Given the description of an element on the screen output the (x, y) to click on. 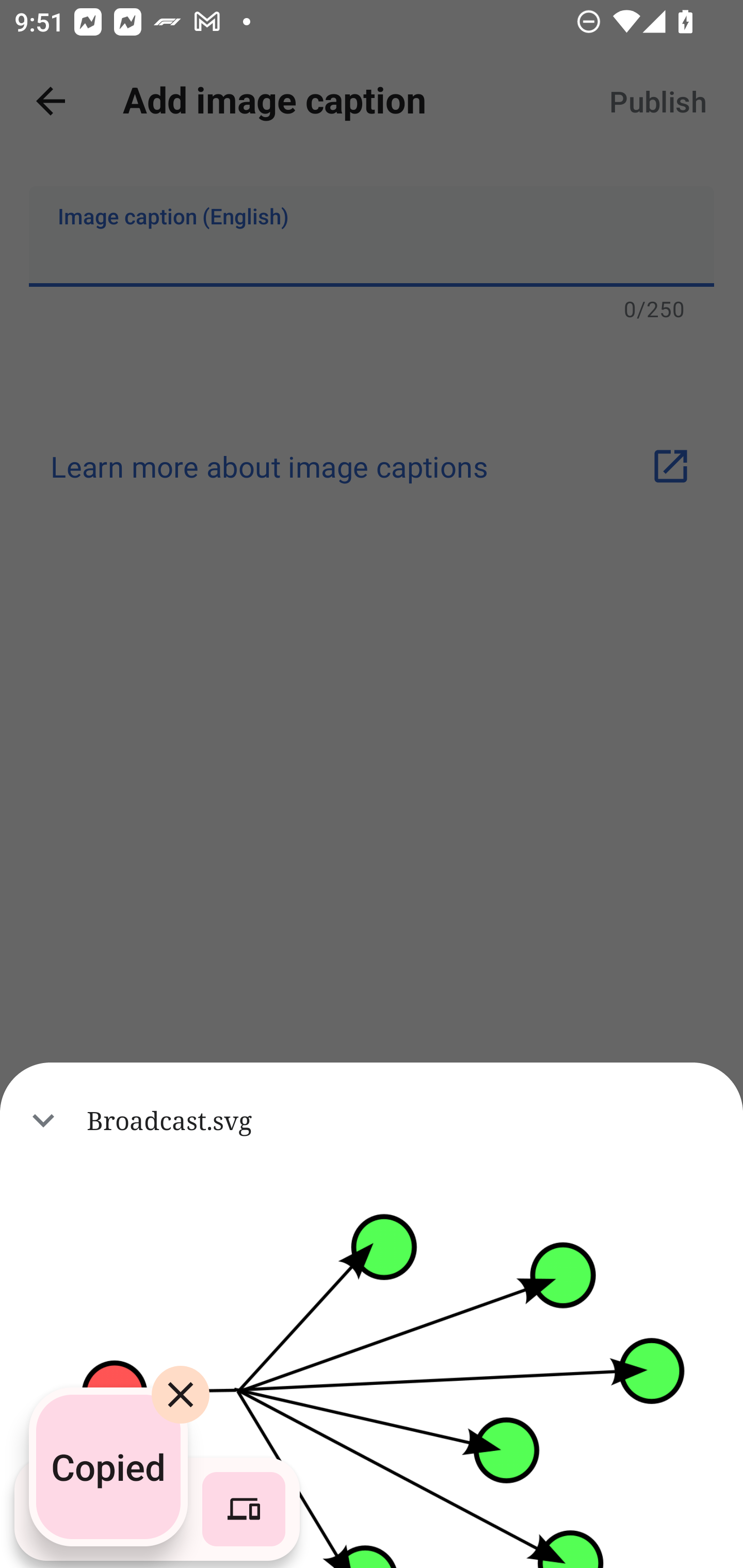
Broadcast.svg (371, 1120)
